Given the description of an element on the screen output the (x, y) to click on. 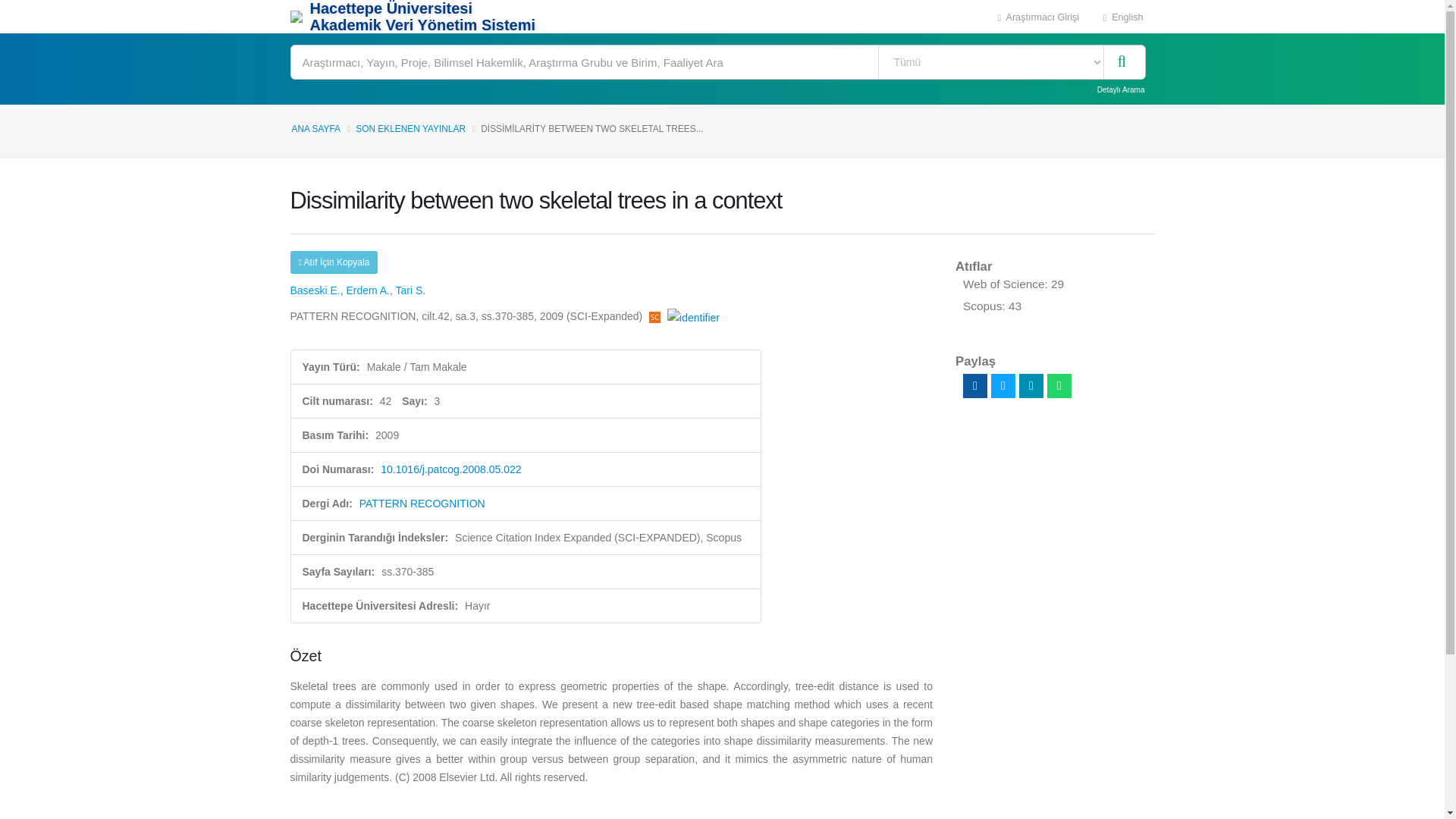
Baseski E. (314, 290)
Erdem A. (368, 290)
English (1123, 17)
PATTERN RECOGNITION (421, 503)
ANA SAYFA (315, 128)
Tari S. (411, 290)
SON EKLENEN YAYINLAR (410, 128)
A. Erdem (368, 290)
S. Tari (411, 290)
